Given the description of an element on the screen output the (x, y) to click on. 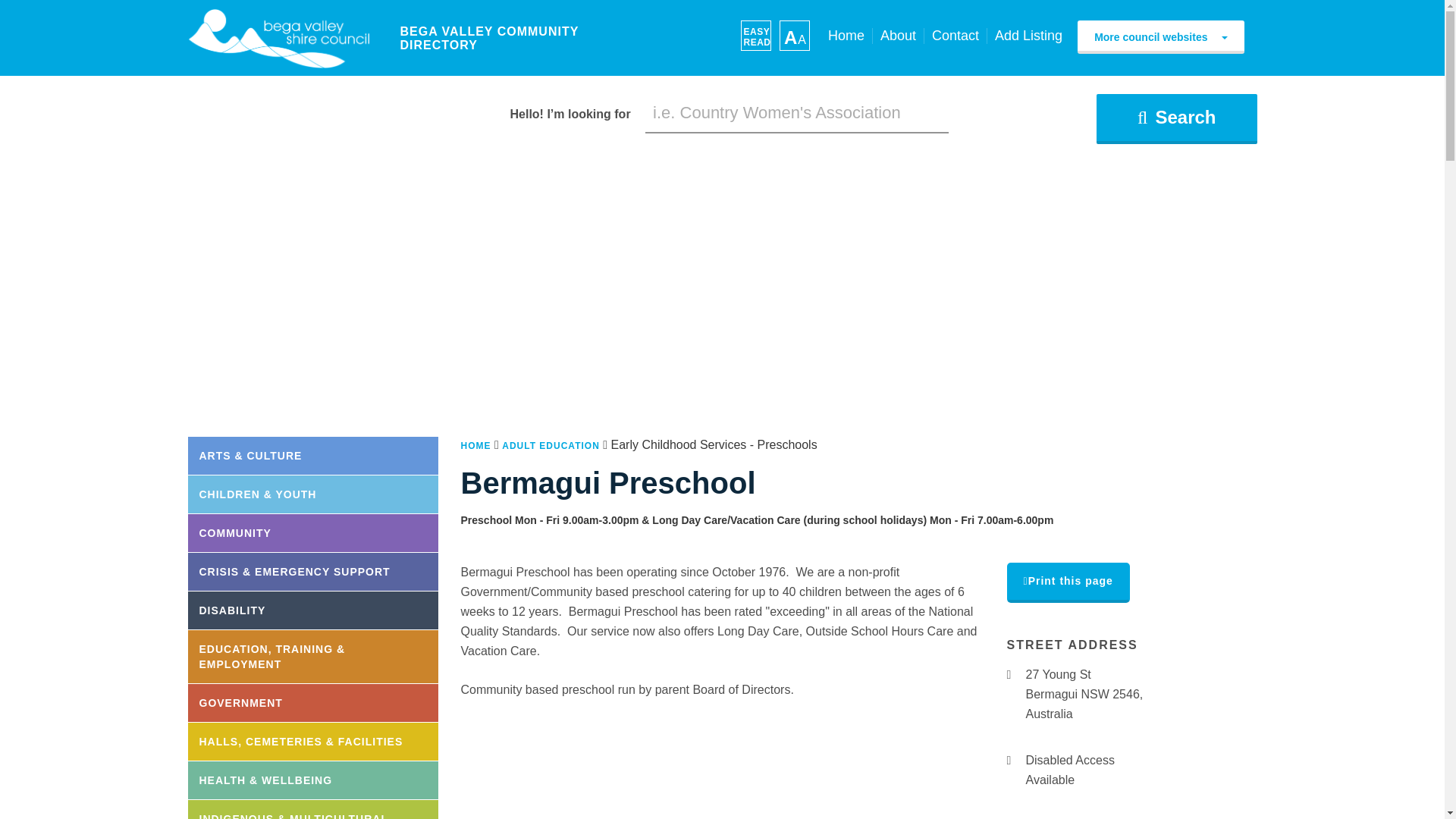
Search (1176, 119)
Add Listing (1028, 35)
Home (846, 35)
BEGA VALLEY COMMUNITY DIRECTORY (278, 38)
About (897, 35)
More council websites (1160, 37)
EASY READ (754, 35)
Disabled Access (1012, 760)
Contact (954, 35)
AA (793, 35)
